Given the description of an element on the screen output the (x, y) to click on. 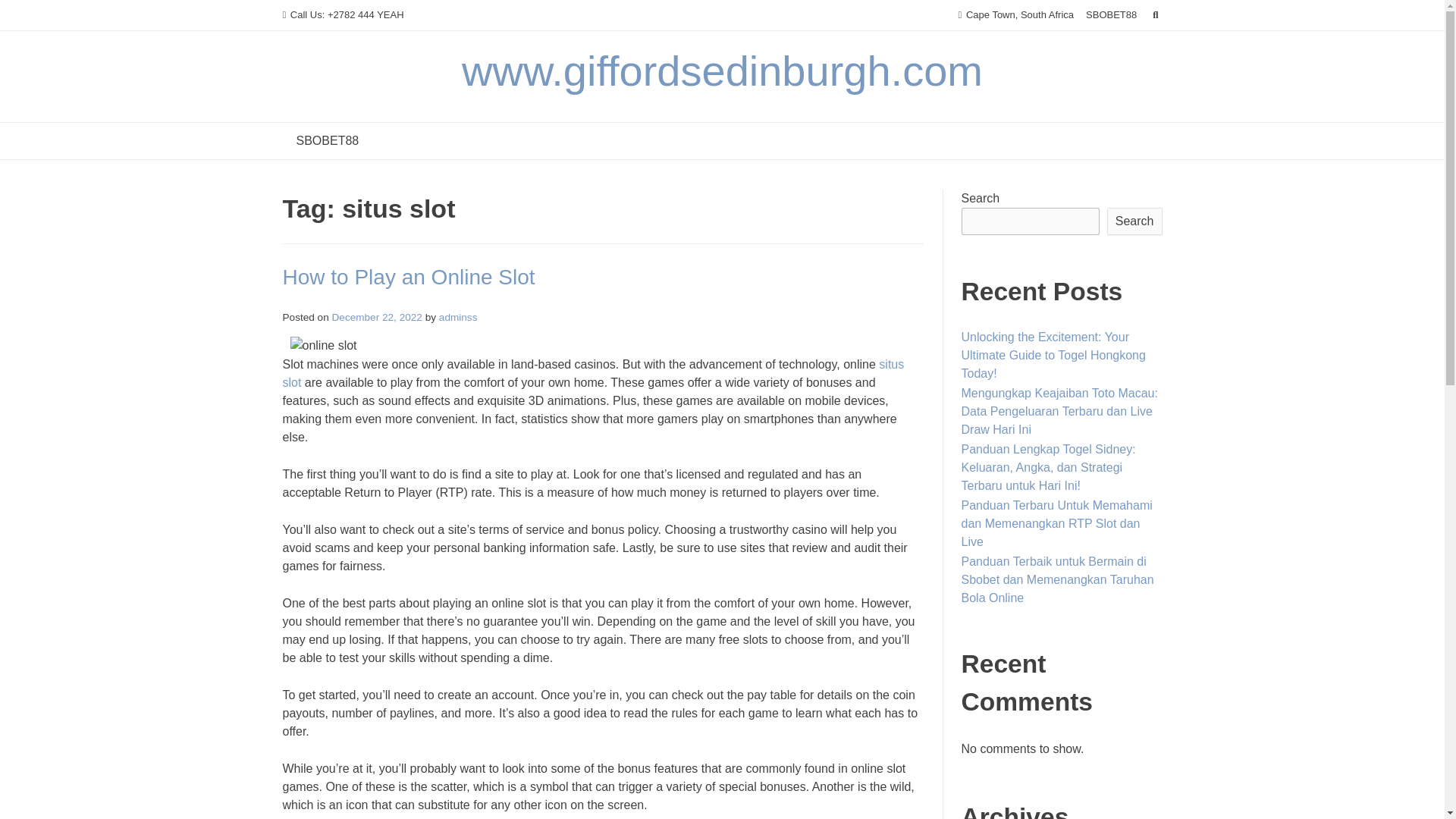
www.giffordsedinburgh.com (721, 70)
Search (1133, 221)
How to Play an Online Slot (408, 277)
situs slot (593, 373)
SBOBET88 (1111, 14)
December 22, 2022 (376, 317)
adminss (458, 317)
